Given the description of an element on the screen output the (x, y) to click on. 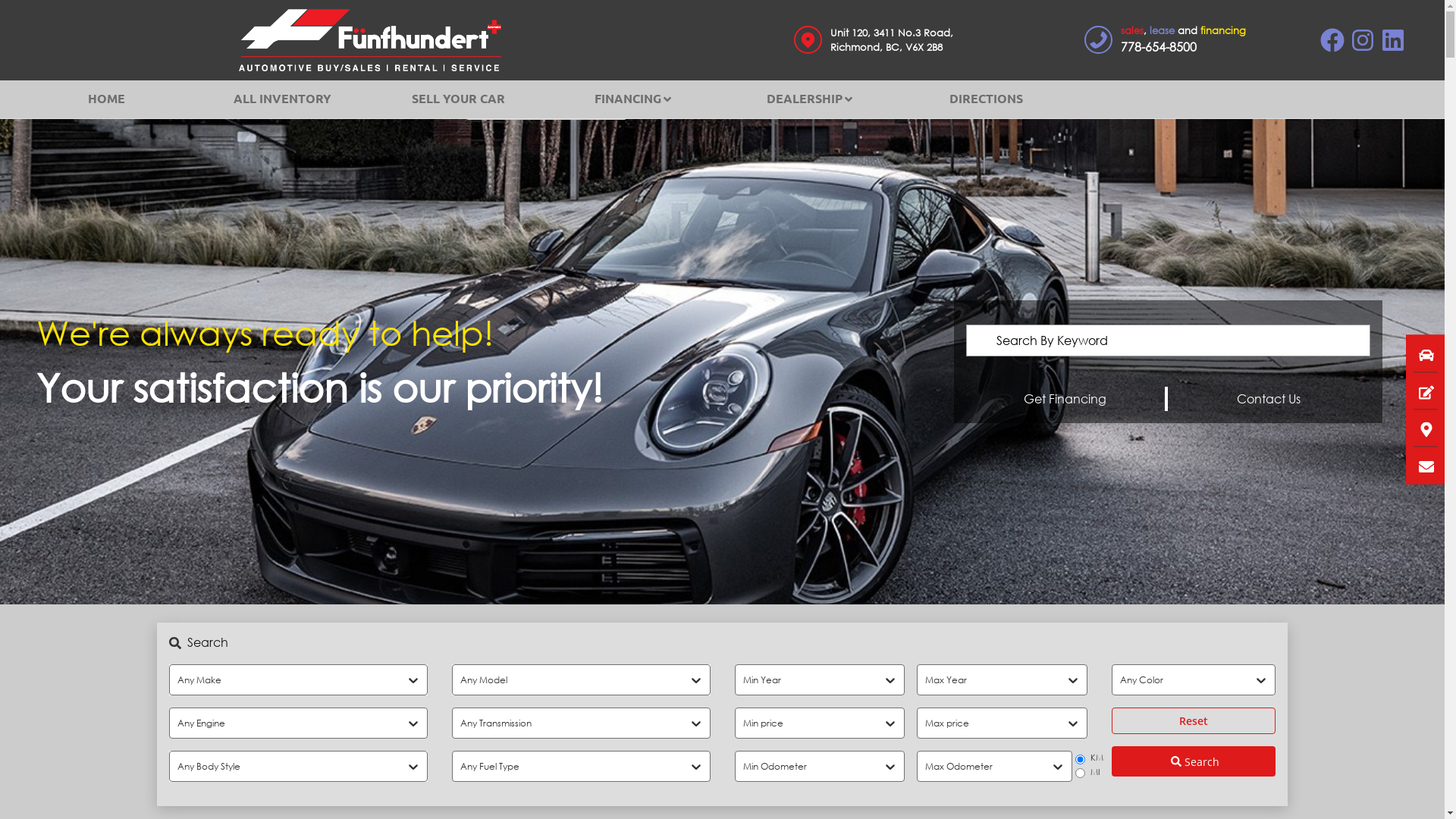
Reset Element type: text (1193, 720)
Search Element type: text (1193, 761)
DEALERSHIP Element type: text (809, 99)
FINANCING Element type: text (633, 99)
Get Financing Element type: text (1064, 398)
Unit 120, 3411 No.3 Road,
Richmond, BC, V6X 2B8 Element type: text (872, 39)
HOME Element type: text (106, 99)
ALL INVENTORY Element type: text (282, 99)
SELL YOUR CAR Element type: text (458, 99)
sales, lease and financing
778-654-8500 Element type: text (1160, 39)
DIRECTIONS Element type: text (986, 99)
Contact Us Element type: text (1268, 398)
